Given the description of an element on the screen output the (x, y) to click on. 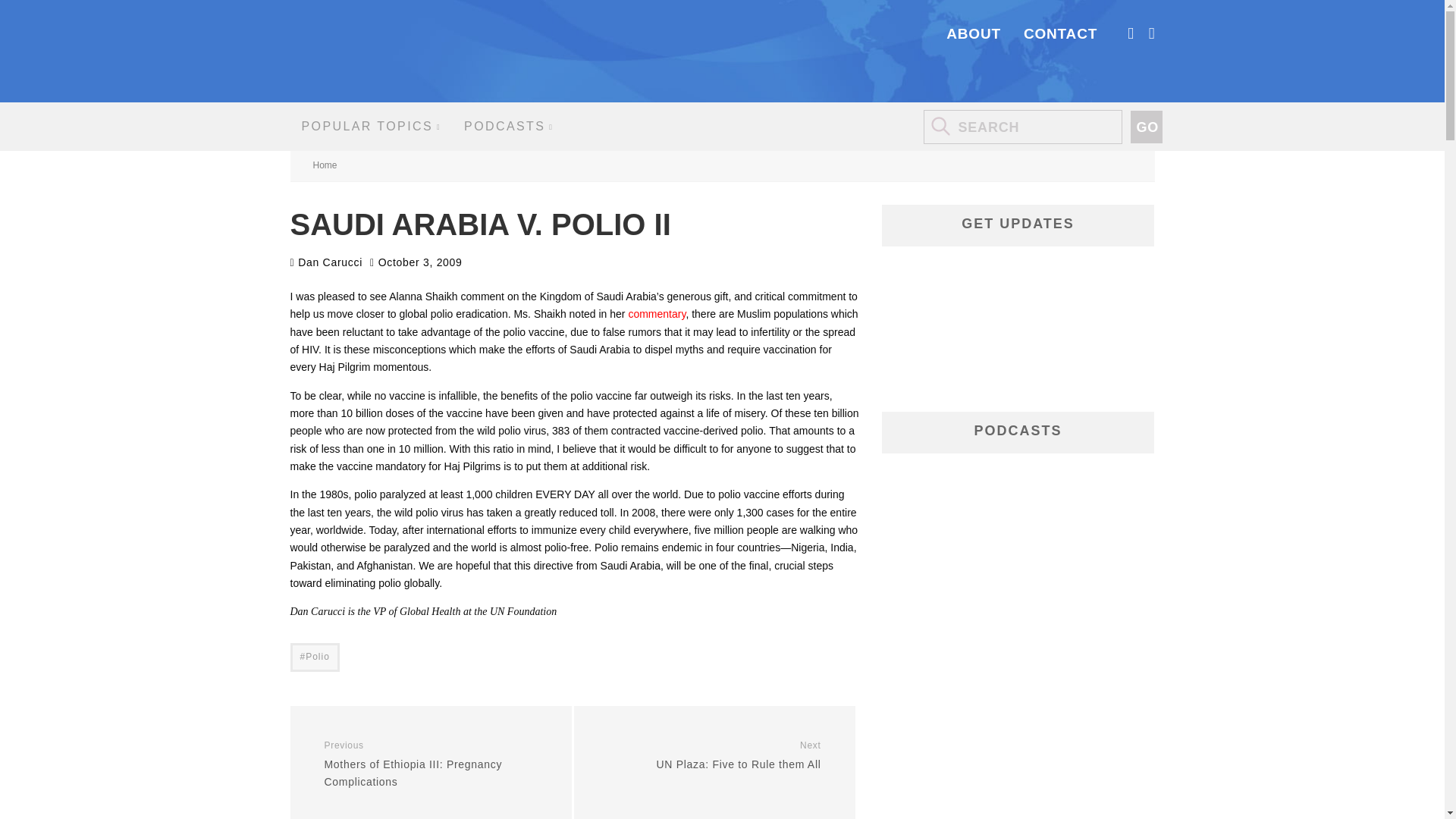
PODCASTS (508, 126)
Go (442, 763)
Go (1145, 126)
Polio (1145, 126)
ABOUT (314, 656)
POPULAR TOPICS (973, 33)
CONTACT (370, 126)
Go (703, 755)
